Given the description of an element on the screen output the (x, y) to click on. 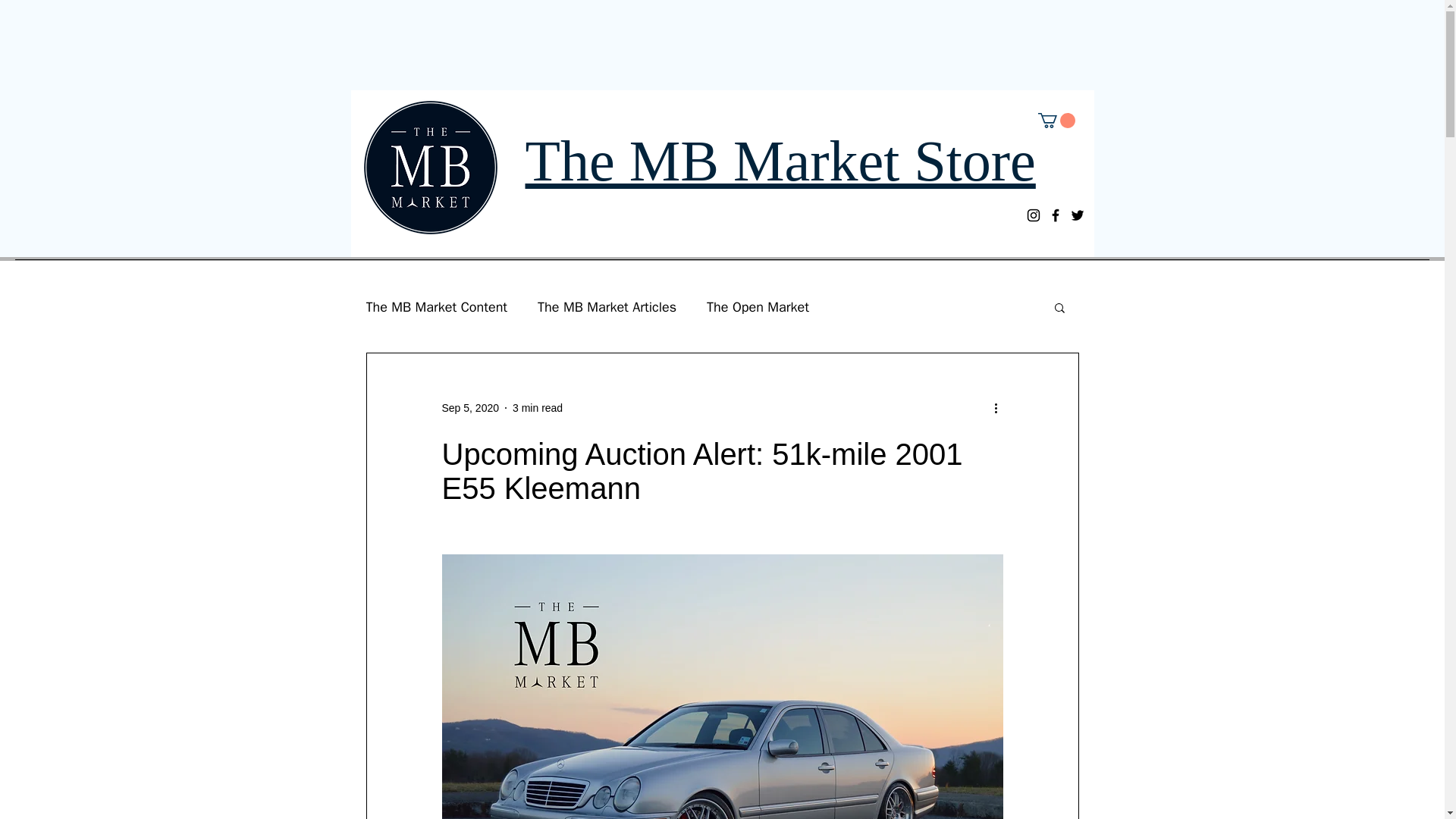
The MB Market Articles (607, 307)
The MB Market Content (435, 307)
3 min read (537, 408)
Sep 5, 2020 (470, 408)
The Open Market (757, 307)
